Given the description of an element on the screen output the (x, y) to click on. 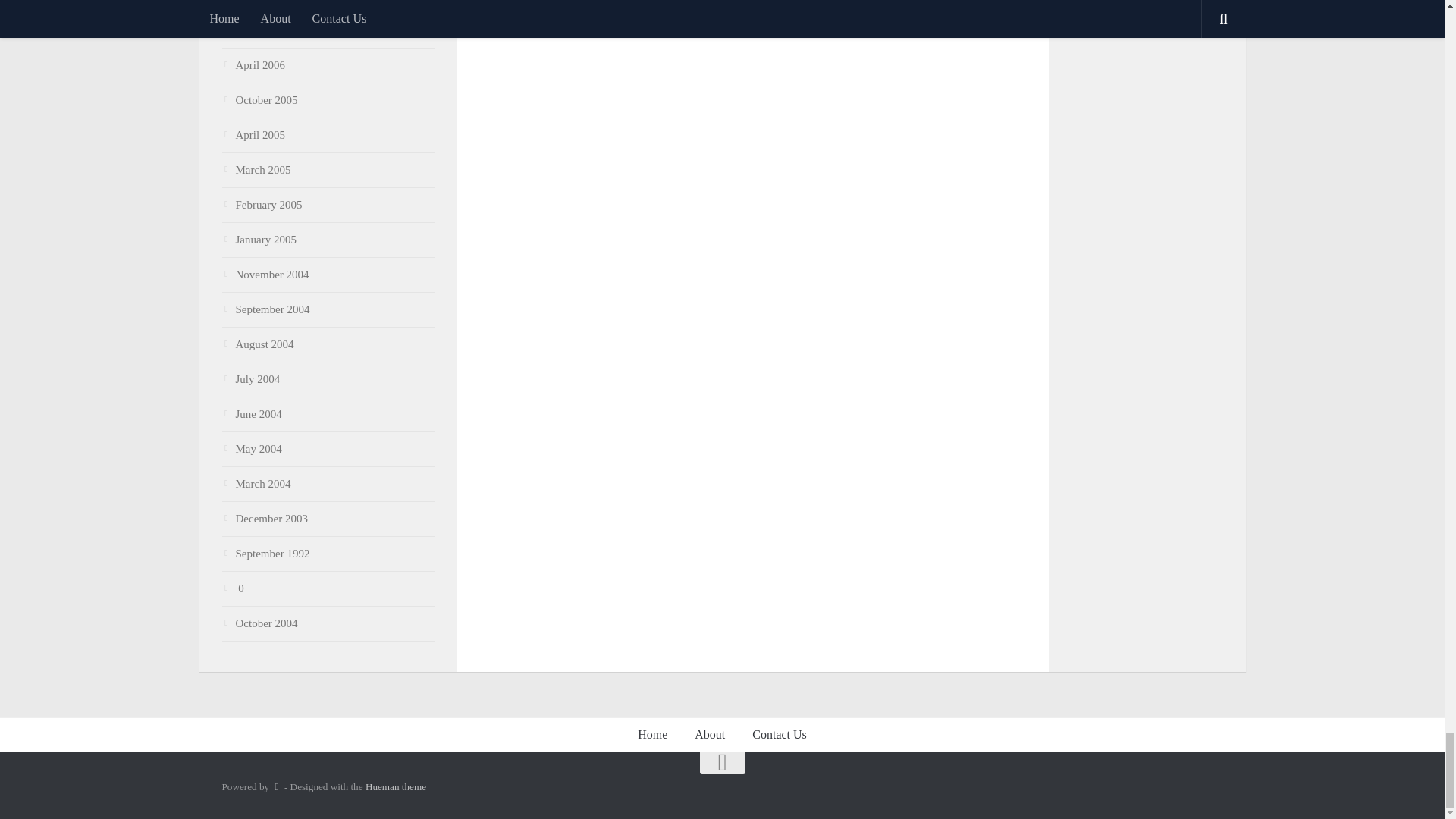
Hueman theme (395, 786)
Powered by WordPress (275, 786)
